Given the description of an element on the screen output the (x, y) to click on. 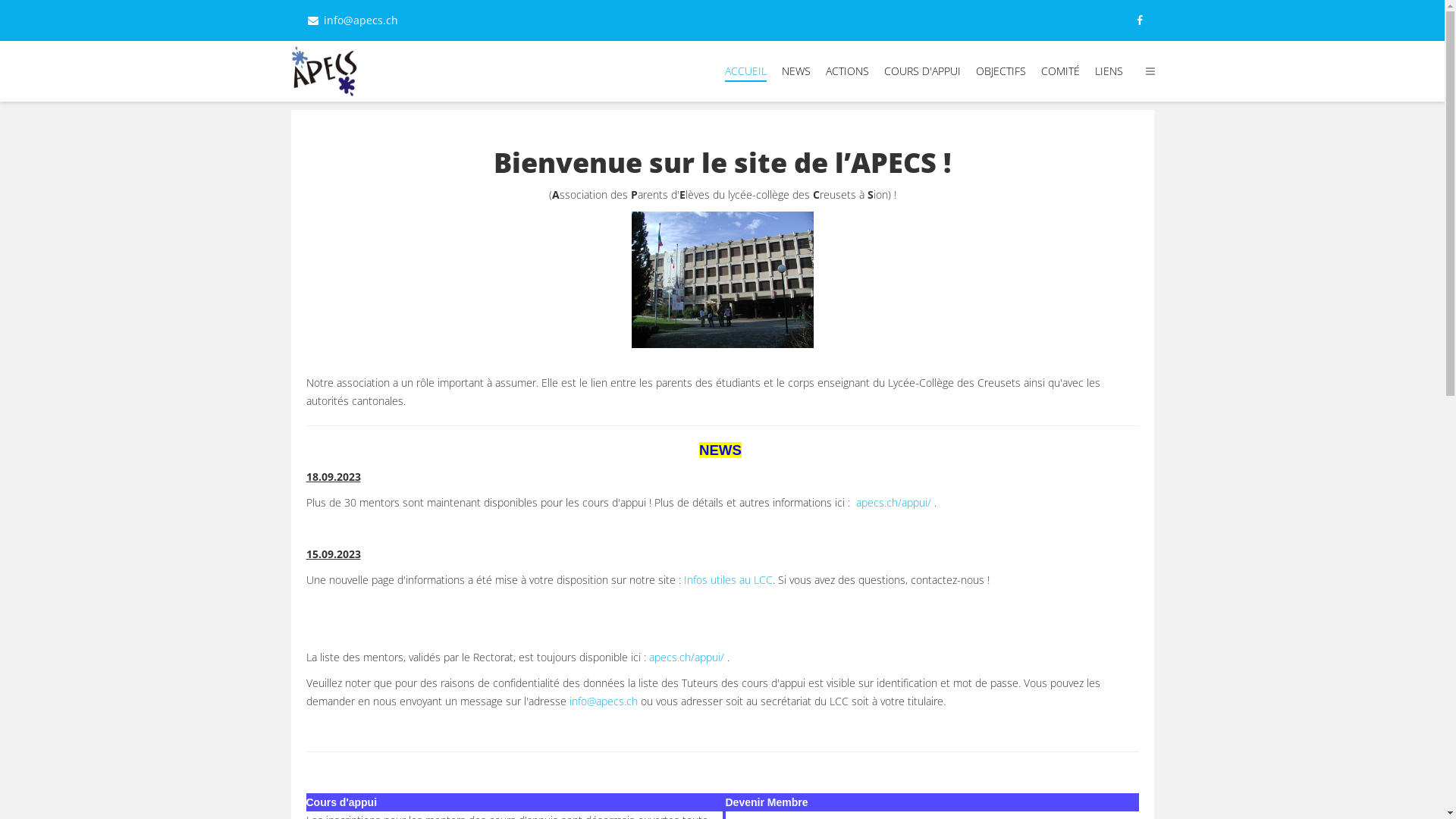
LIENS Element type: text (1109, 70)
apecs.ch/appui/ Element type: text (892, 502)
ACTIONS Element type: text (846, 70)
NEWS Element type: text (795, 70)
info@apecs.ch Element type: text (602, 700)
Infos utiles au LCC Element type: text (728, 579)
ACCUEIL Element type: text (745, 70)
  Element type: text (945, 700)
info@apecs.ch Element type: text (360, 19)
apecs.ch/appui/ Element type: text (686, 656)
COURS D'APPUI Element type: text (922, 70)
OBJECTIFS Element type: text (1000, 70)
